Given the description of an element on the screen output the (x, y) to click on. 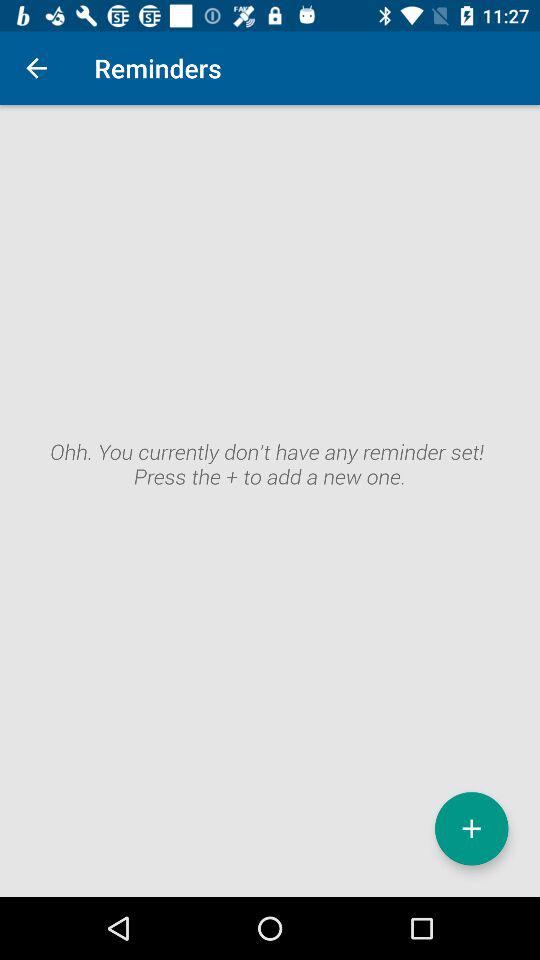
reminder option (471, 828)
